Given the description of an element on the screen output the (x, y) to click on. 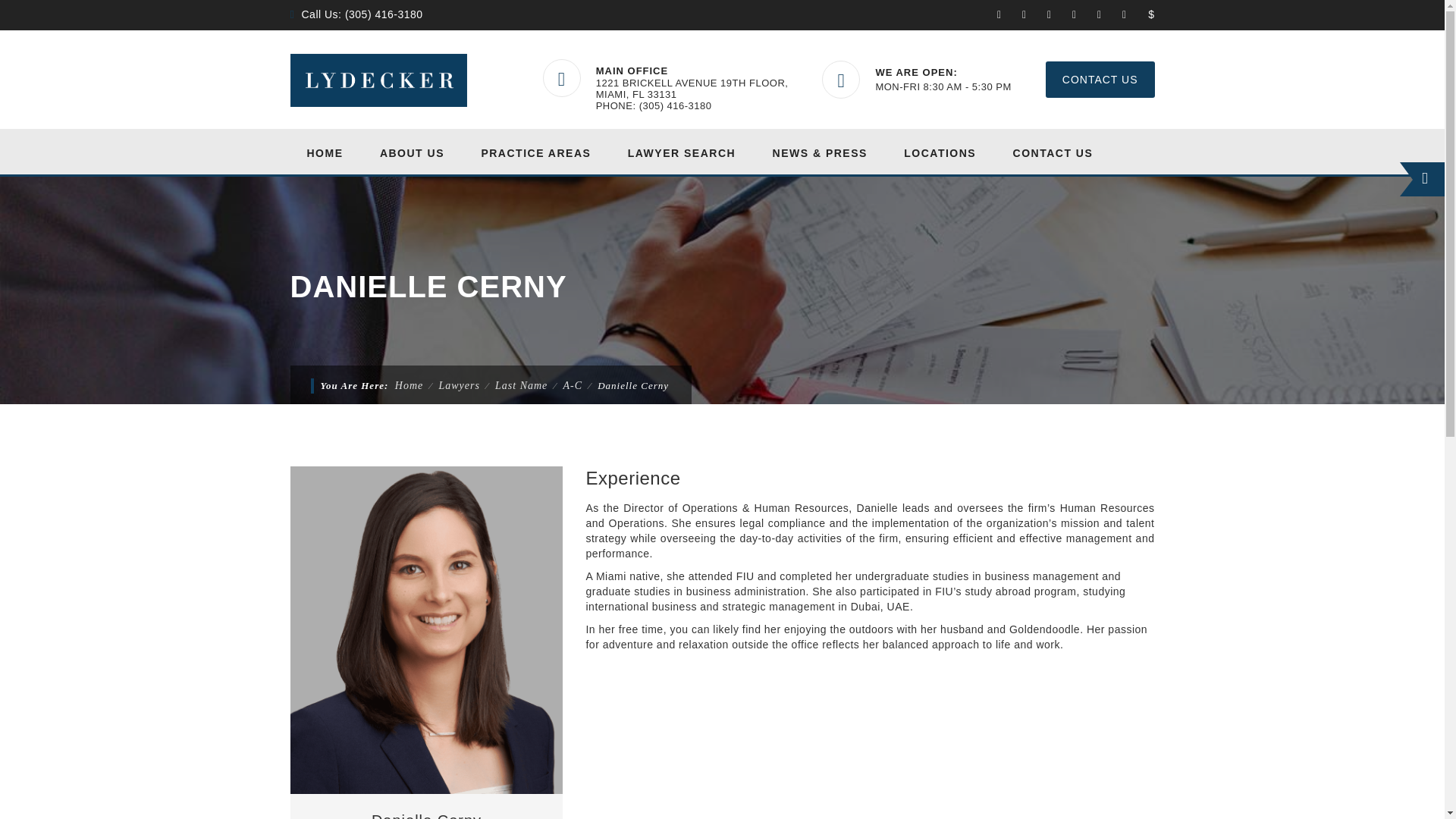
ABOUT US (411, 152)
LAWYER SEARCH (681, 152)
Lydecker (378, 80)
LOCATIONS (939, 152)
HOME (324, 152)
Home (408, 385)
Lawyers (458, 385)
PRACTICE AREAS (535, 152)
Last Name (521, 385)
